Given the description of an element on the screen output the (x, y) to click on. 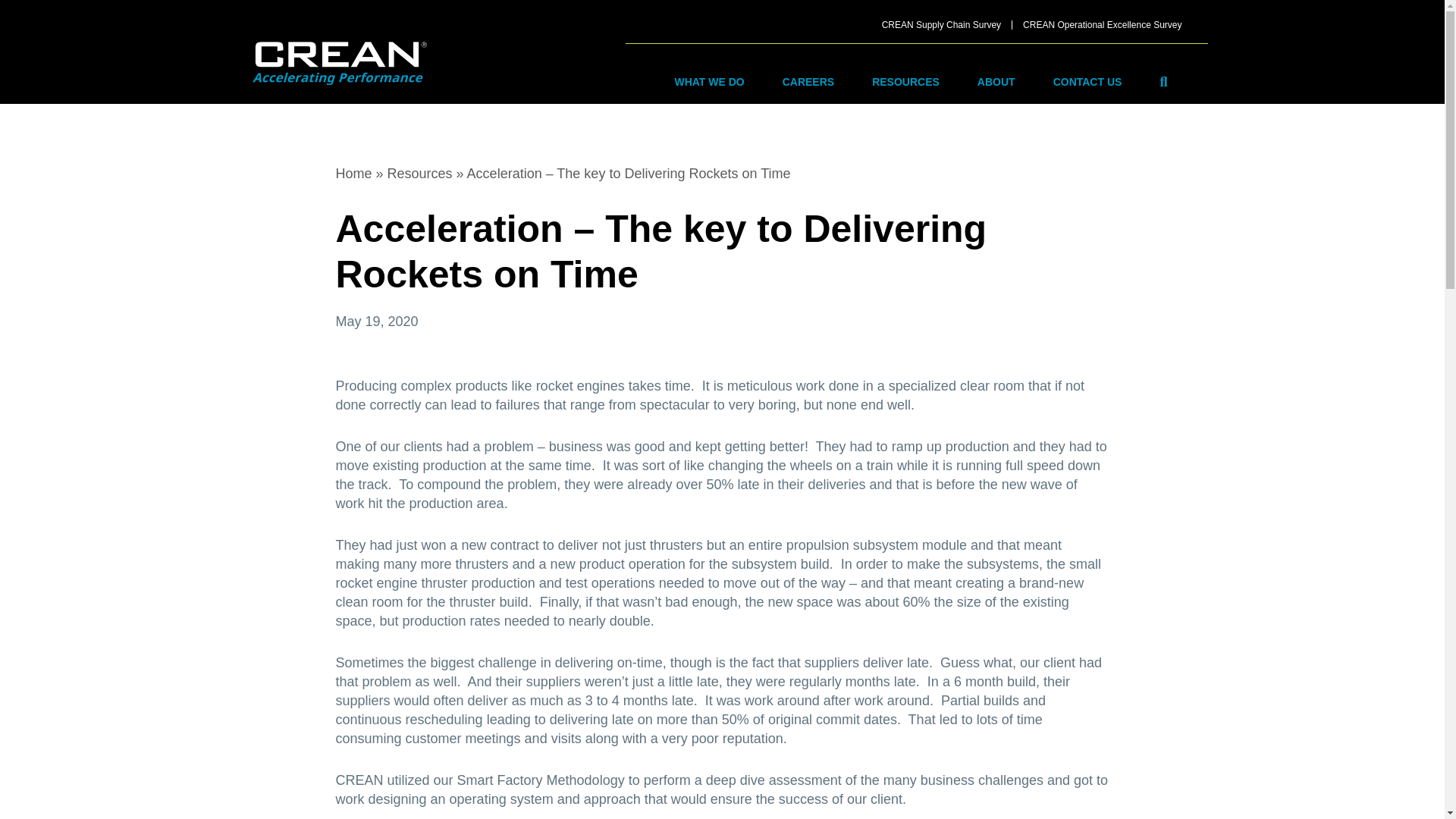
ABOUT (995, 81)
Home (352, 173)
CAREERS (807, 81)
CONTACT US (1087, 81)
CREAN Supply Chain Survey (940, 24)
Resources (419, 173)
CREAN Operational Excellence Survey (1101, 24)
Search (1166, 81)
RESOURCES (905, 81)
WHAT WE DO (708, 81)
